Given the description of an element on the screen output the (x, y) to click on. 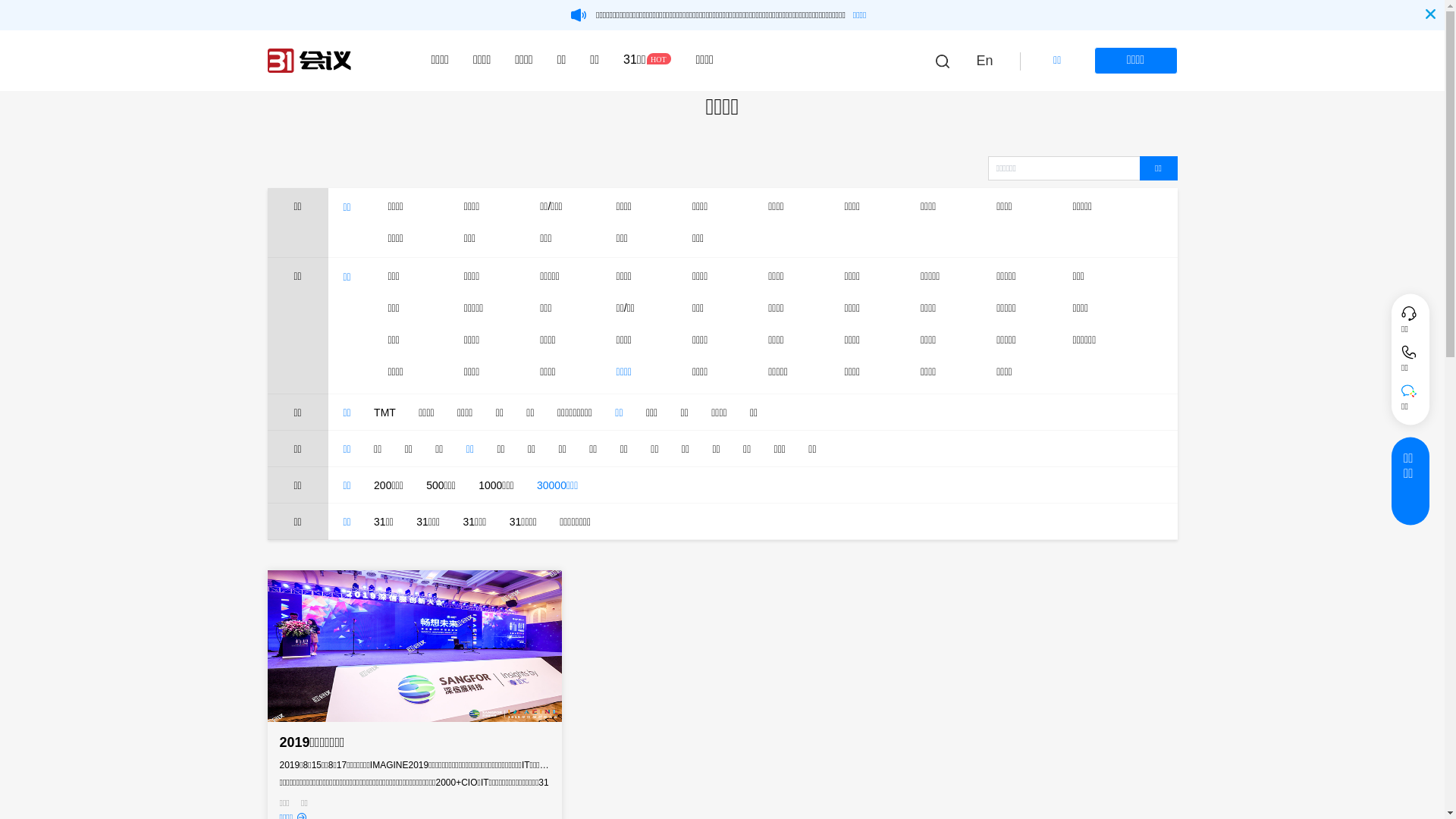
TMT Element type: text (384, 413)
En Element type: text (983, 60)
